Given the description of an element on the screen output the (x, y) to click on. 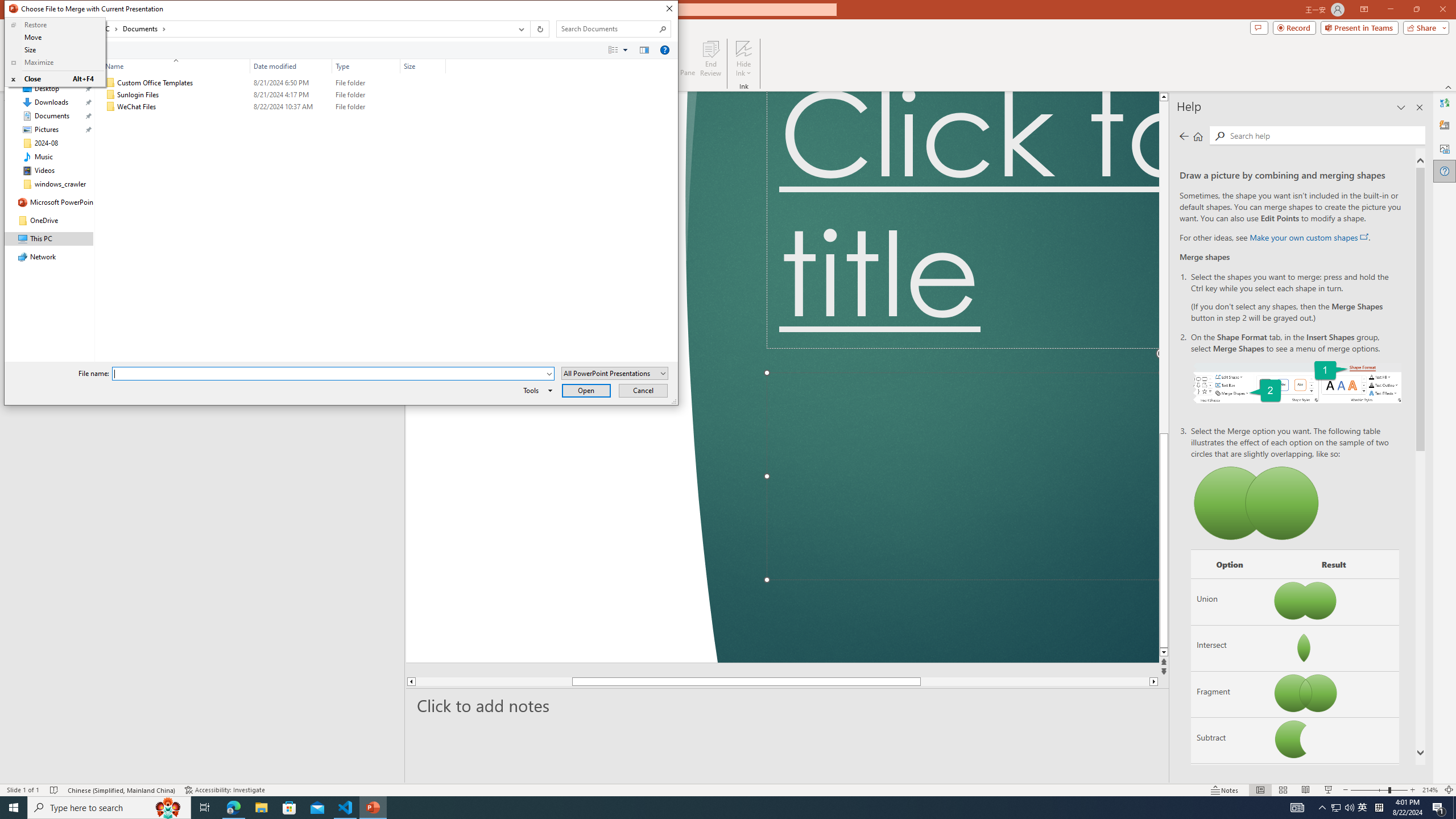
Move (54, 37)
Page down (1034, 681)
Intersect (1229, 647)
Search (663, 28)
Organize (31, 49)
Class: MsoCommandBar (728, 789)
Subtract (1229, 740)
Refresh "Documents" (F5) (538, 28)
Designer (1444, 125)
Address band toolbar (1362, 807)
Open (529, 28)
